Given the description of an element on the screen output the (x, y) to click on. 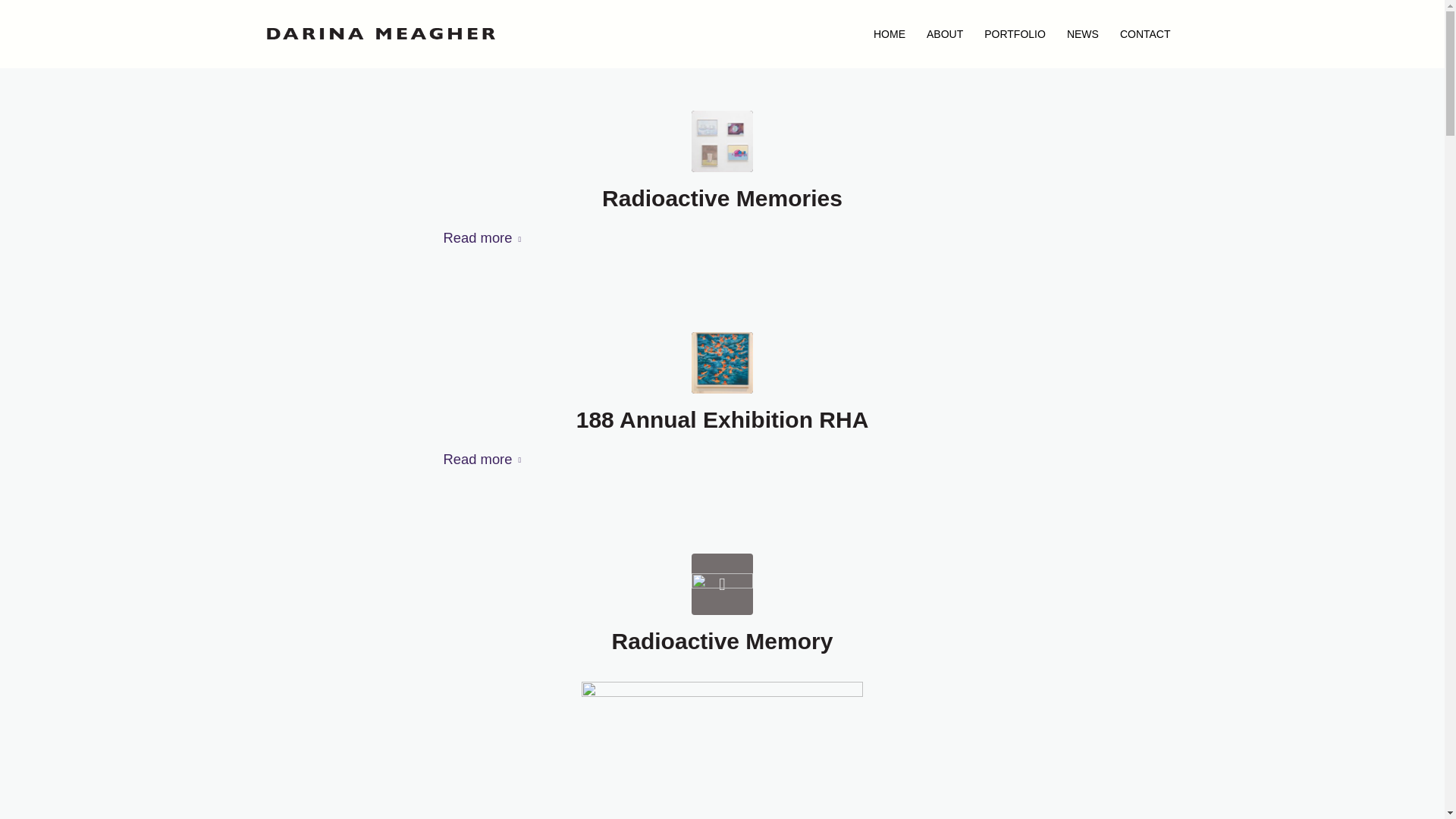
Radioactive Memories (722, 197)
Radioactive Memory (721, 640)
Permanent Link: Radioactive Memory (721, 640)
CONTACT (1144, 33)
Read more (484, 238)
LARGE (721, 584)
Permanent Link: 188 Annual Exhibition RHA (722, 419)
Permanent Link: Radioactive Memories (722, 197)
Read more (484, 459)
Exhibition View (721, 140)
Race, Oil on Canvas, 70cmx70cm (721, 362)
188 Annual Exhibition RHA (722, 419)
PORTFOLIO (1015, 33)
